Given the description of an element on the screen output the (x, y) to click on. 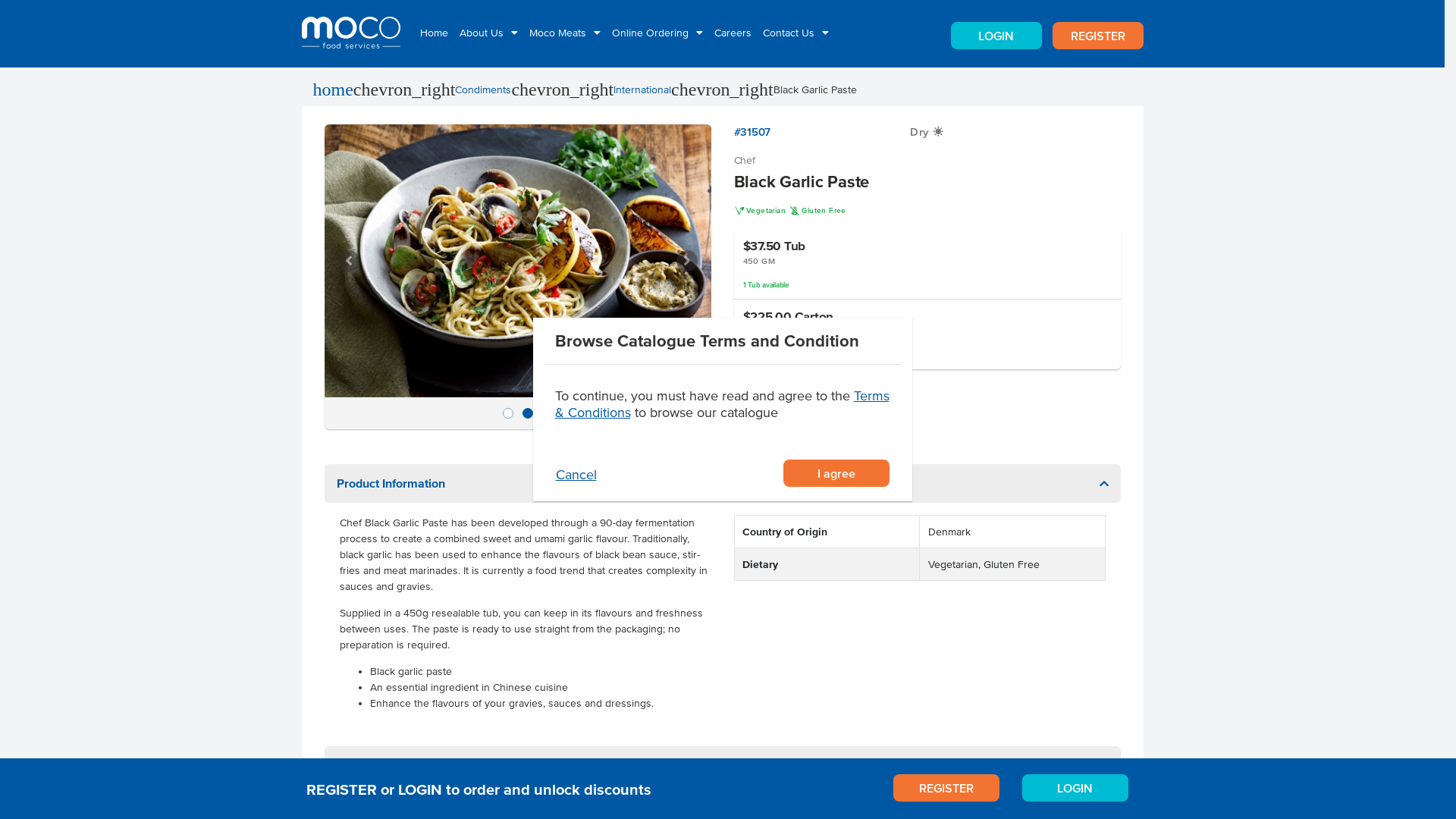
Product Downloads Element type: text (722, 765)
REGISTER Element type: text (946, 787)
Home Element type: text (431, 31)
Moco Meats Element type: text (562, 31)
Online Ordering Element type: text (654, 31)
REGISTER Element type: text (1097, 35)
Terms & Conditions Element type: text (722, 404)
Product Information Element type: text (722, 483)
Condiments Element type: text (483, 89)
About Us Element type: text (486, 31)
Careers Element type: text (730, 31)
International Element type: text (642, 89)
LOGIN Element type: text (1075, 787)
LOGIN Element type: text (995, 35)
I agree Element type: text (835, 472)
Cancel Element type: text (633, 474)
Contact Us Element type: text (793, 31)
home Element type: text (332, 89)
